Given the description of an element on the screen output the (x, y) to click on. 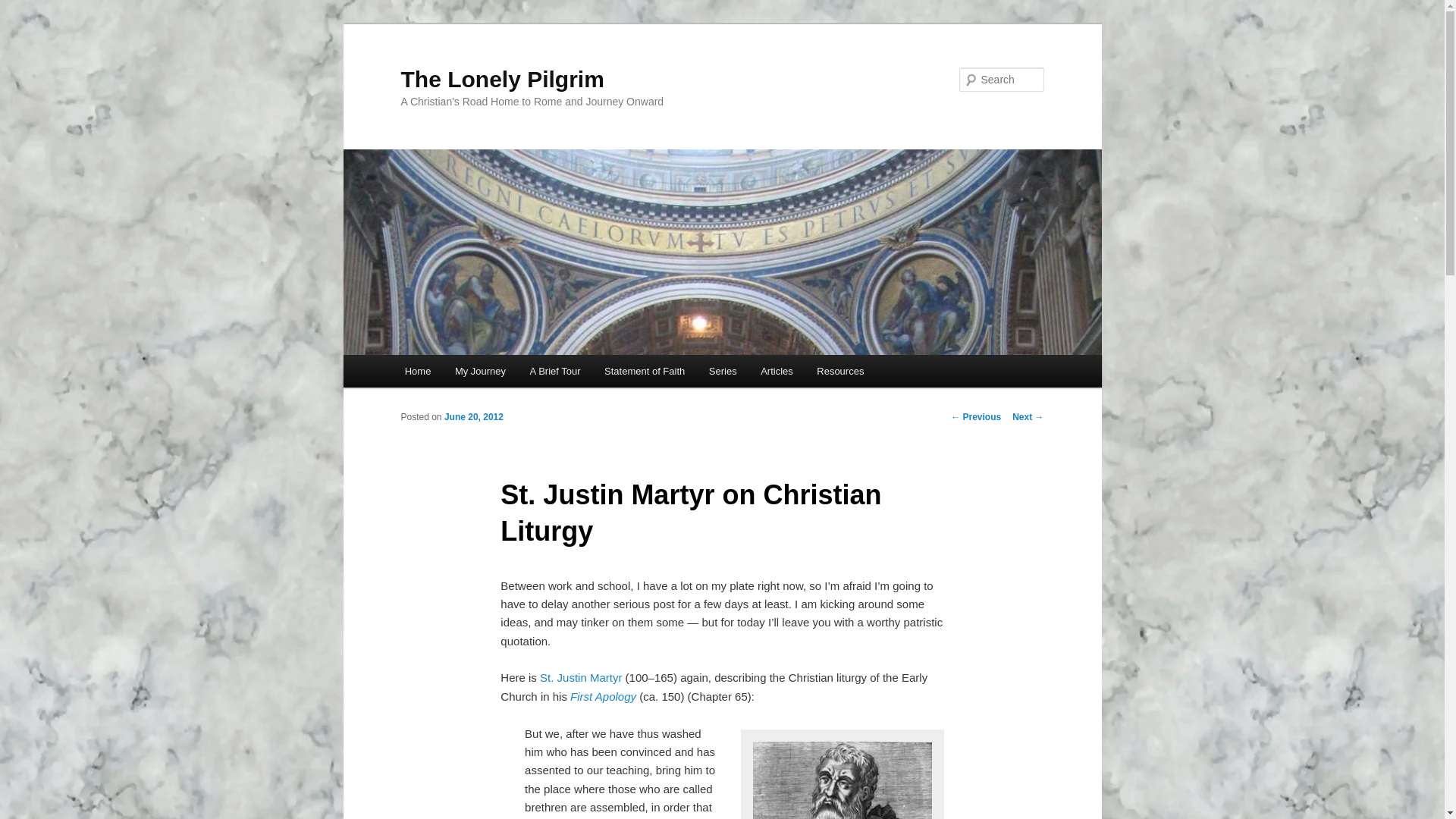
Resources (840, 370)
My Journey (480, 370)
St. Justin Martyr (580, 676)
A Brief Tour (555, 370)
June 20, 2012 (473, 416)
Statement of Faith (644, 370)
Search (24, 8)
Series (722, 370)
First Apology (603, 696)
7:24 pm (473, 416)
Home (417, 370)
Articles (776, 370)
The Lonely Pilgrim (502, 78)
Justin Martyr (842, 777)
